Given the description of an element on the screen output the (x, y) to click on. 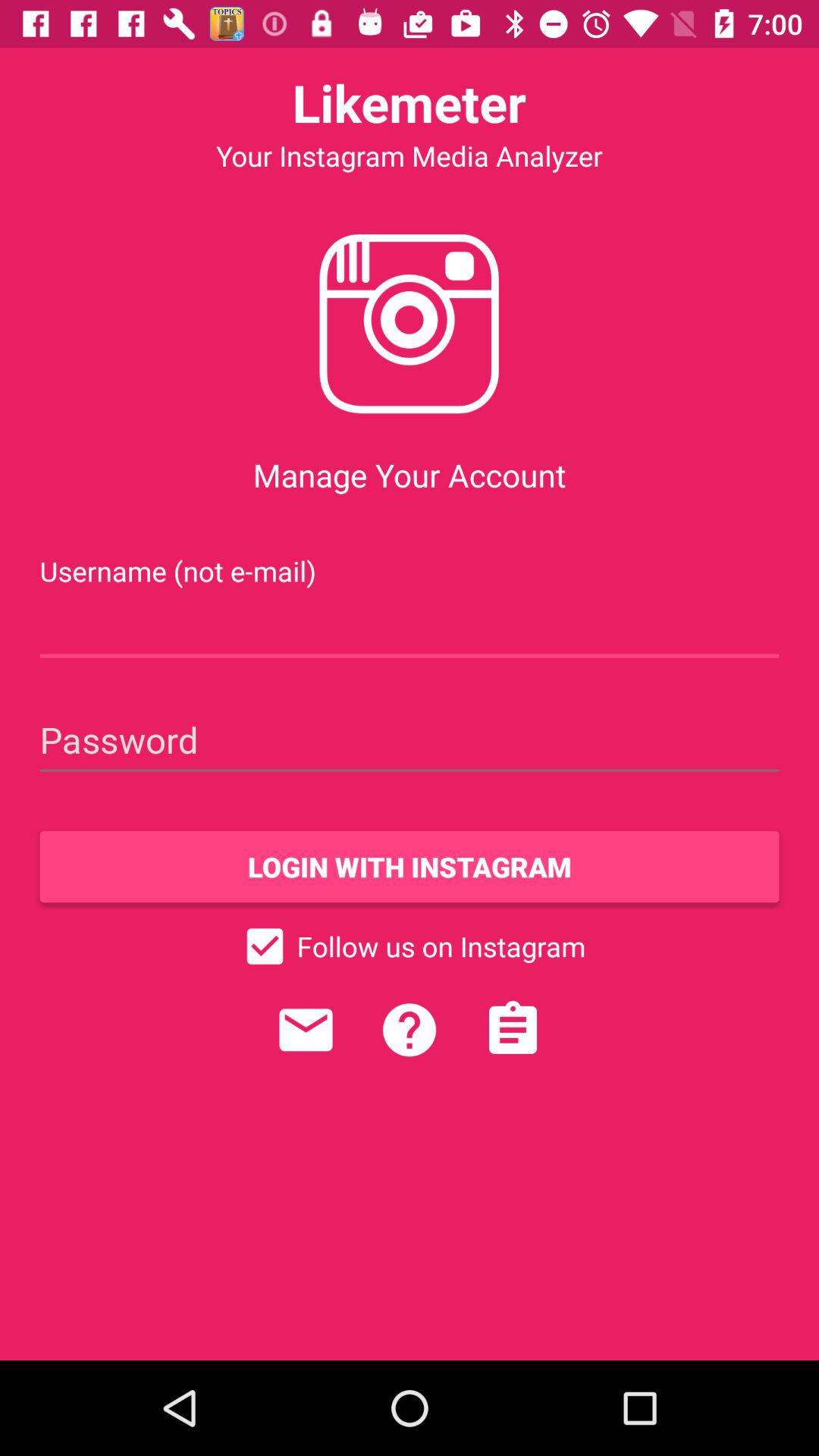
send a message (305, 1029)
